Given the description of an element on the screen output the (x, y) to click on. 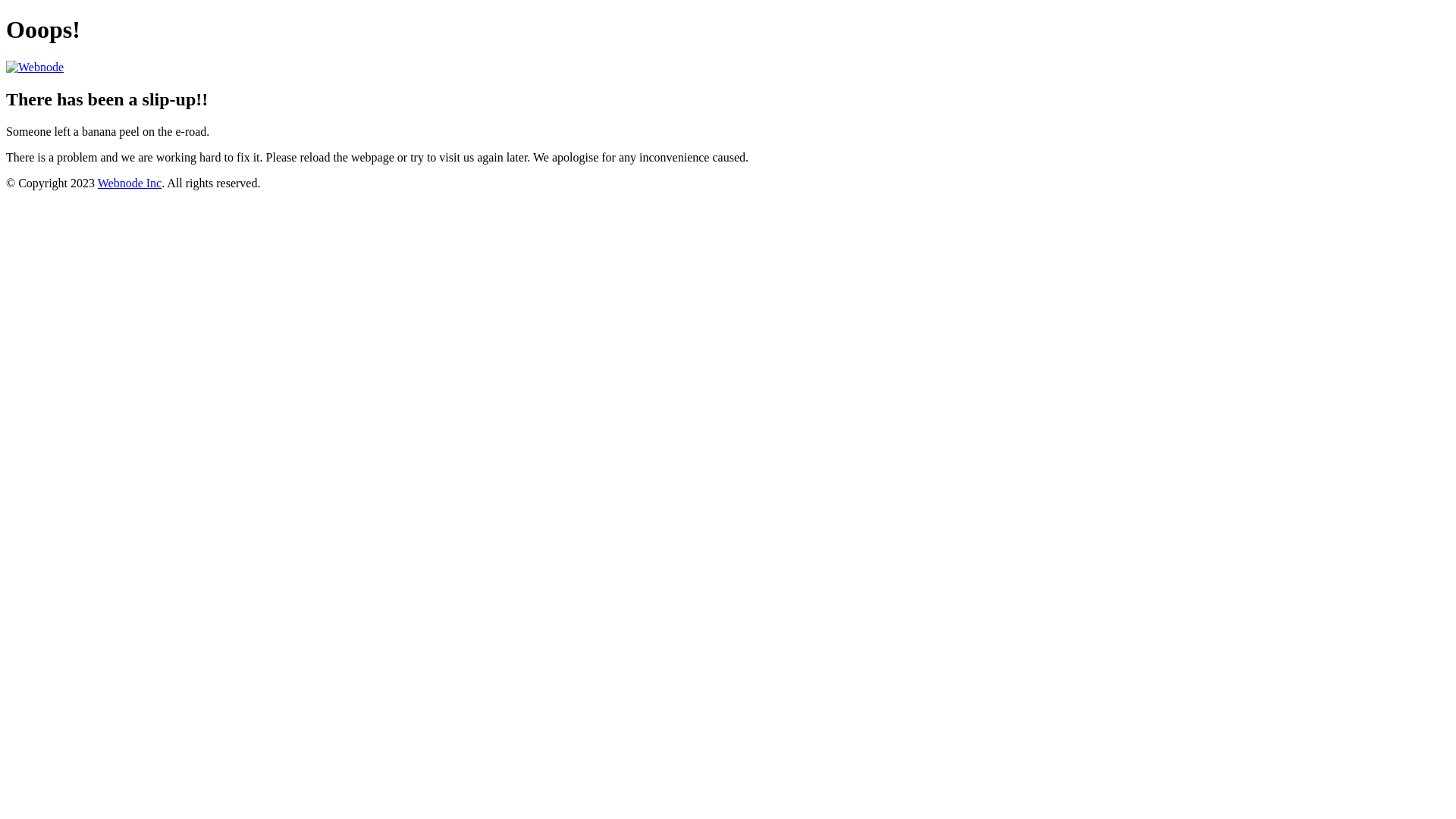
Webnode Inc Element type: text (129, 182)
